Given the description of an element on the screen output the (x, y) to click on. 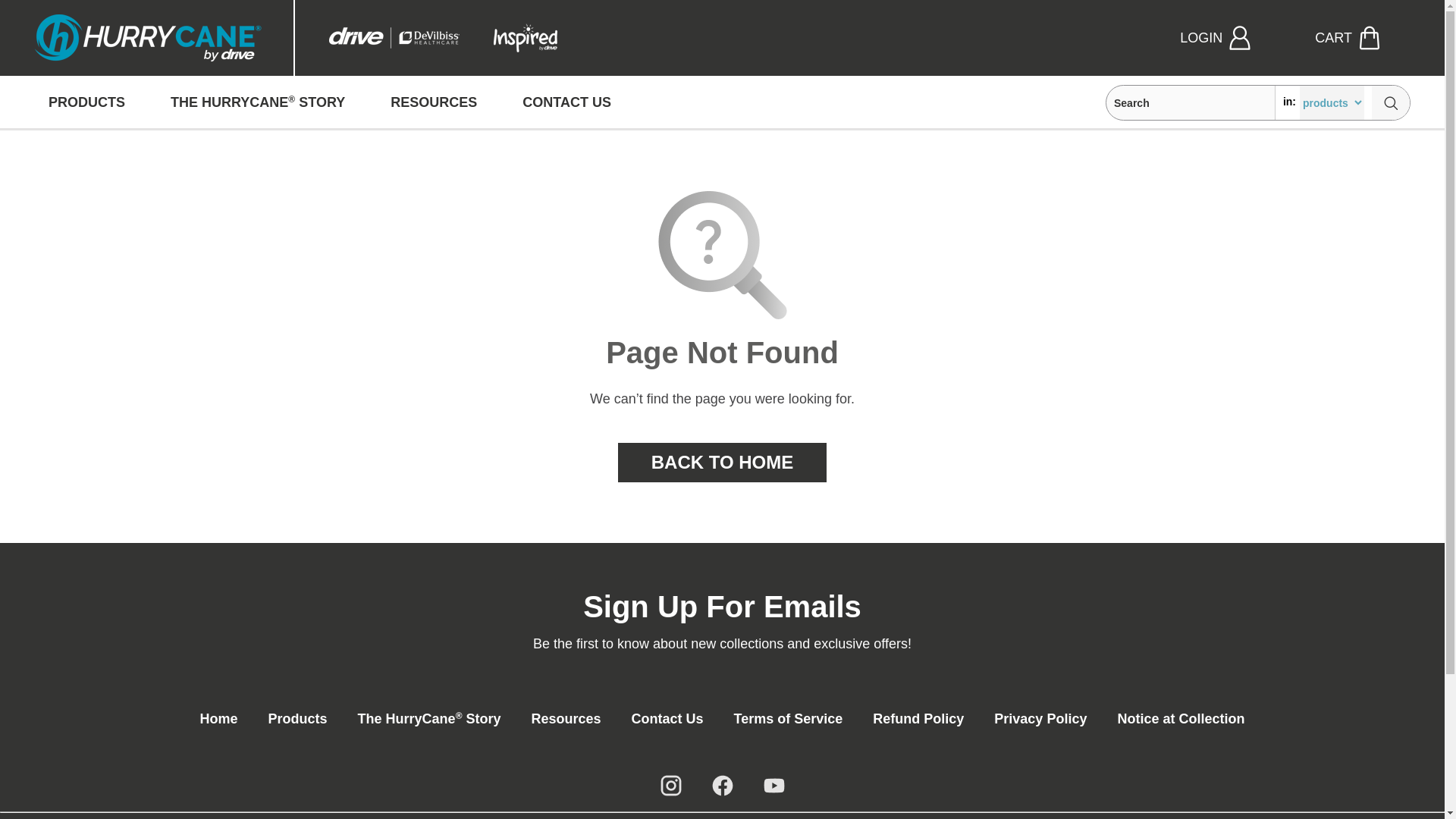
Terms of Service (789, 719)
Resources (565, 719)
Contact Us (667, 719)
Products (297, 719)
LOGIN (1230, 37)
PRODUCTS (86, 102)
Home (218, 719)
BACK TO HOME (722, 462)
Privacy Policy (1040, 719)
Refund Policy (917, 719)
